Given the description of an element on the screen output the (x, y) to click on. 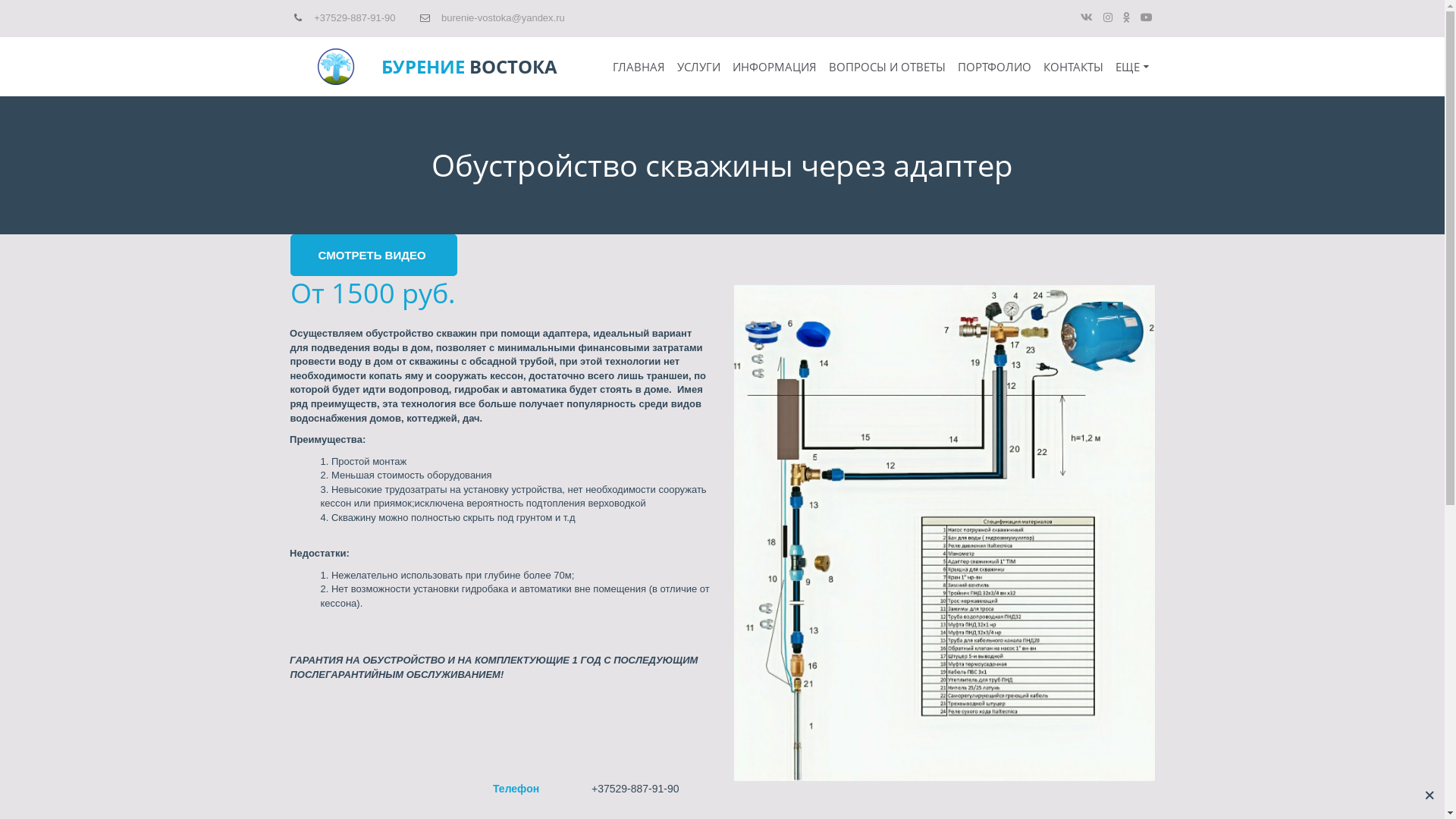
burenie-vostoka@yandex.ru Element type: text (502, 17)
+37529-887-91-90 Element type: text (354, 17)
+37529-887-91-90 Element type: text (635, 788)
